Given the description of an element on the screen output the (x, y) to click on. 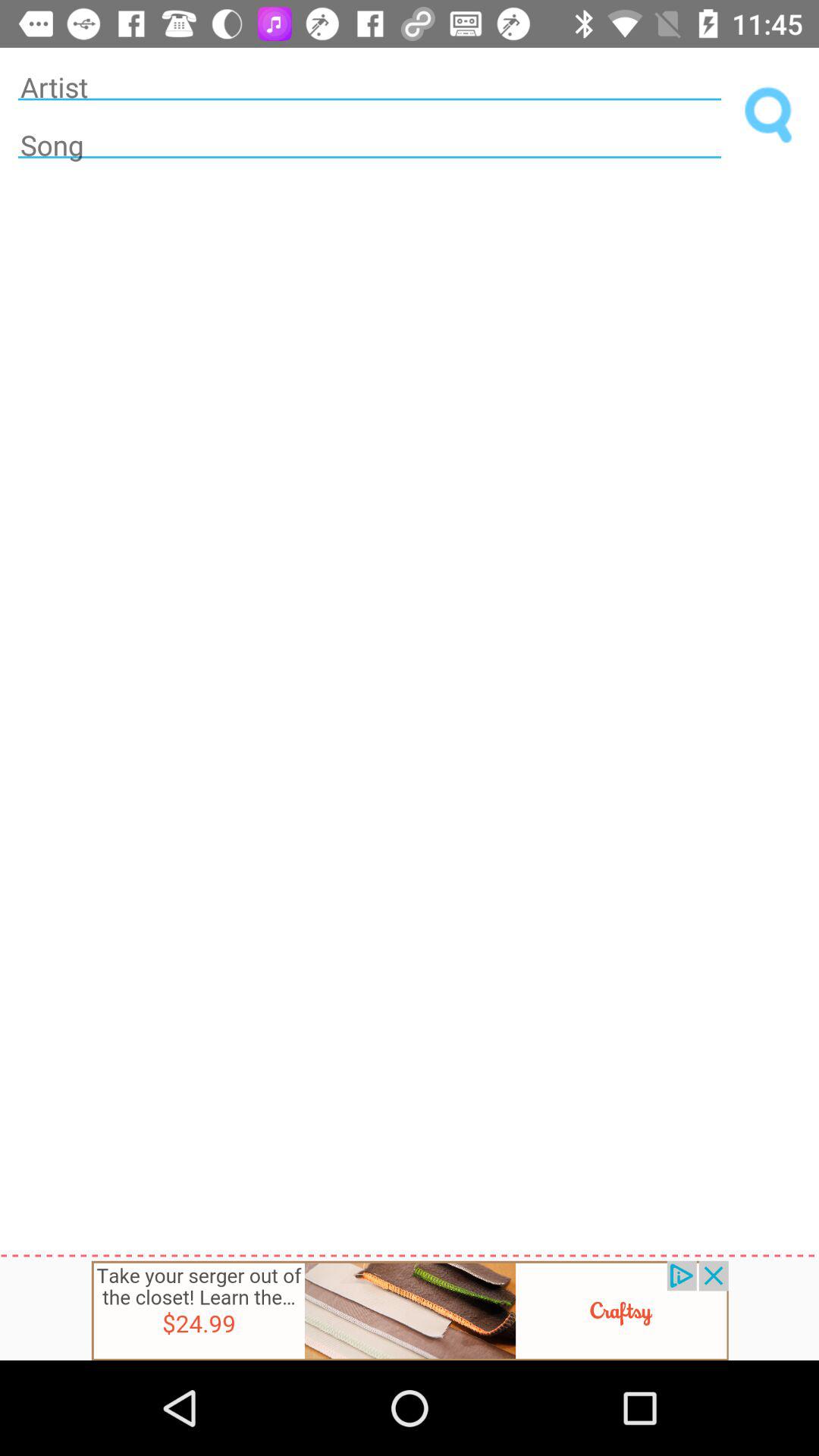
type in artist name (369, 87)
